Given the description of an element on the screen output the (x, y) to click on. 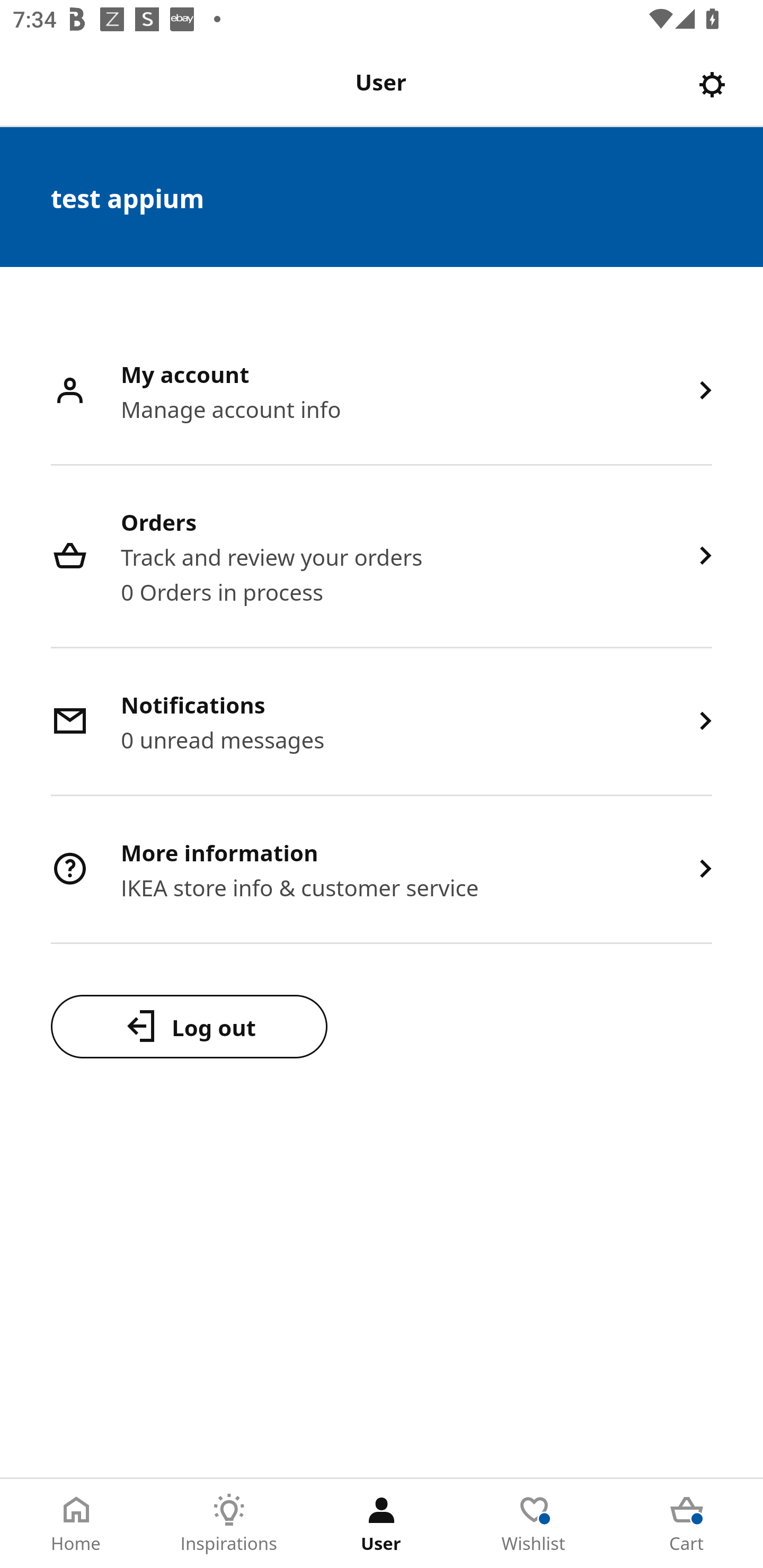
My account
Manage account info (381, 391)
Notifications
0 unread messages (381, 722)
Log out (189, 1026)
Home
Tab 1 of 5 (76, 1522)
Inspirations
Tab 2 of 5 (228, 1522)
User
Tab 3 of 5 (381, 1522)
Wishlist
Tab 4 of 5 (533, 1522)
Cart
Tab 5 of 5 (686, 1522)
